Given the description of an element on the screen output the (x, y) to click on. 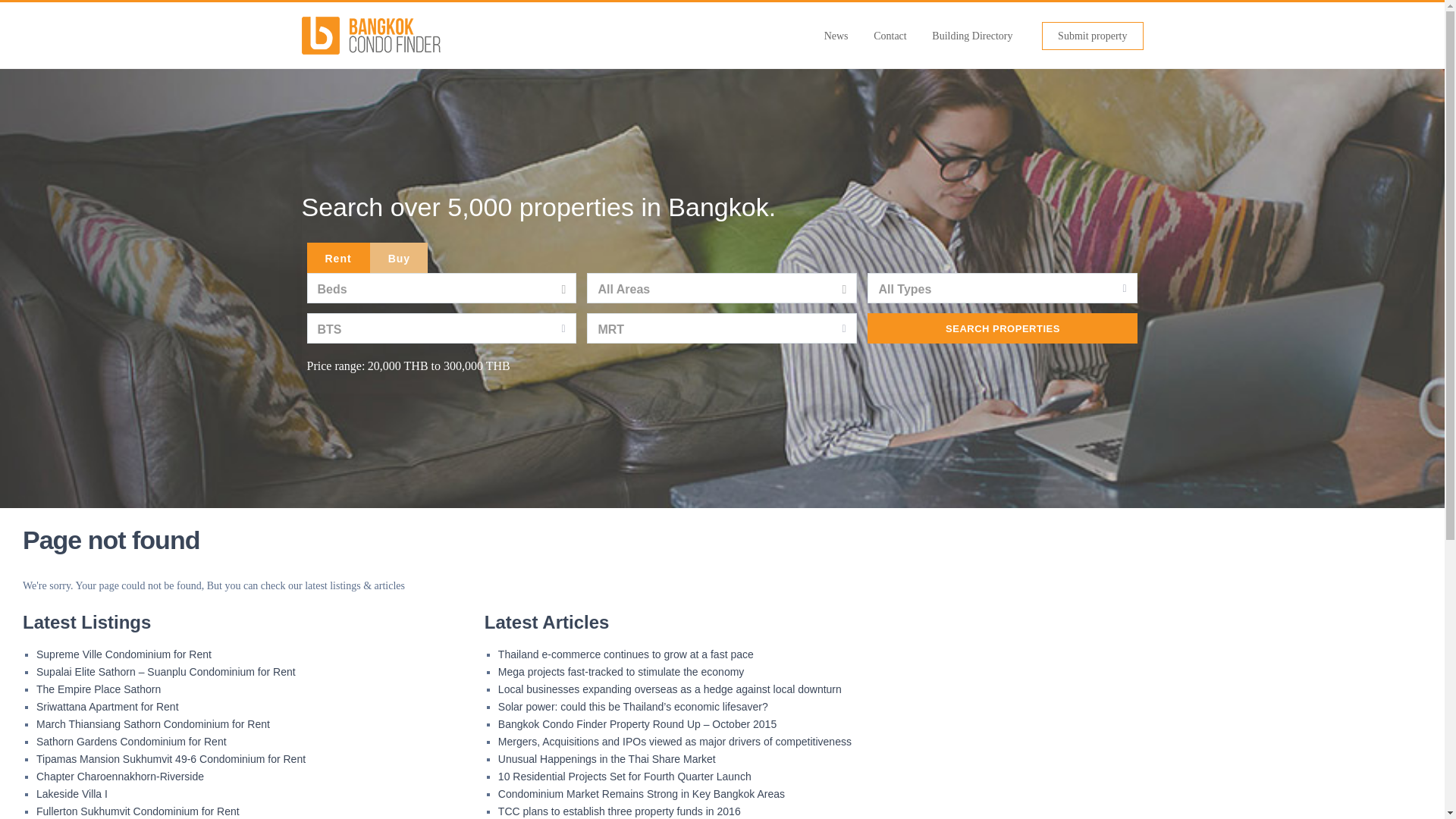
Tipamas Mansion Sukhumvit 49-6 Condominium for Rent (170, 758)
March Thiansiang Sathorn Condominium for Rent (152, 724)
Thailand e-commerce continues to grow at a fast pace (625, 654)
Search Properties (1002, 327)
10 Residential Projects Set for Fourth Quarter Launch (624, 776)
Unusual Happenings in the Thai Share Market (606, 758)
Fullerton Sukhumvit Condominium for Rent (138, 811)
Chapter Charoennakhorn-Riverside (119, 776)
Condominium Market Remains Strong in Key Bangkok Areas (640, 793)
